Given the description of an element on the screen output the (x, y) to click on. 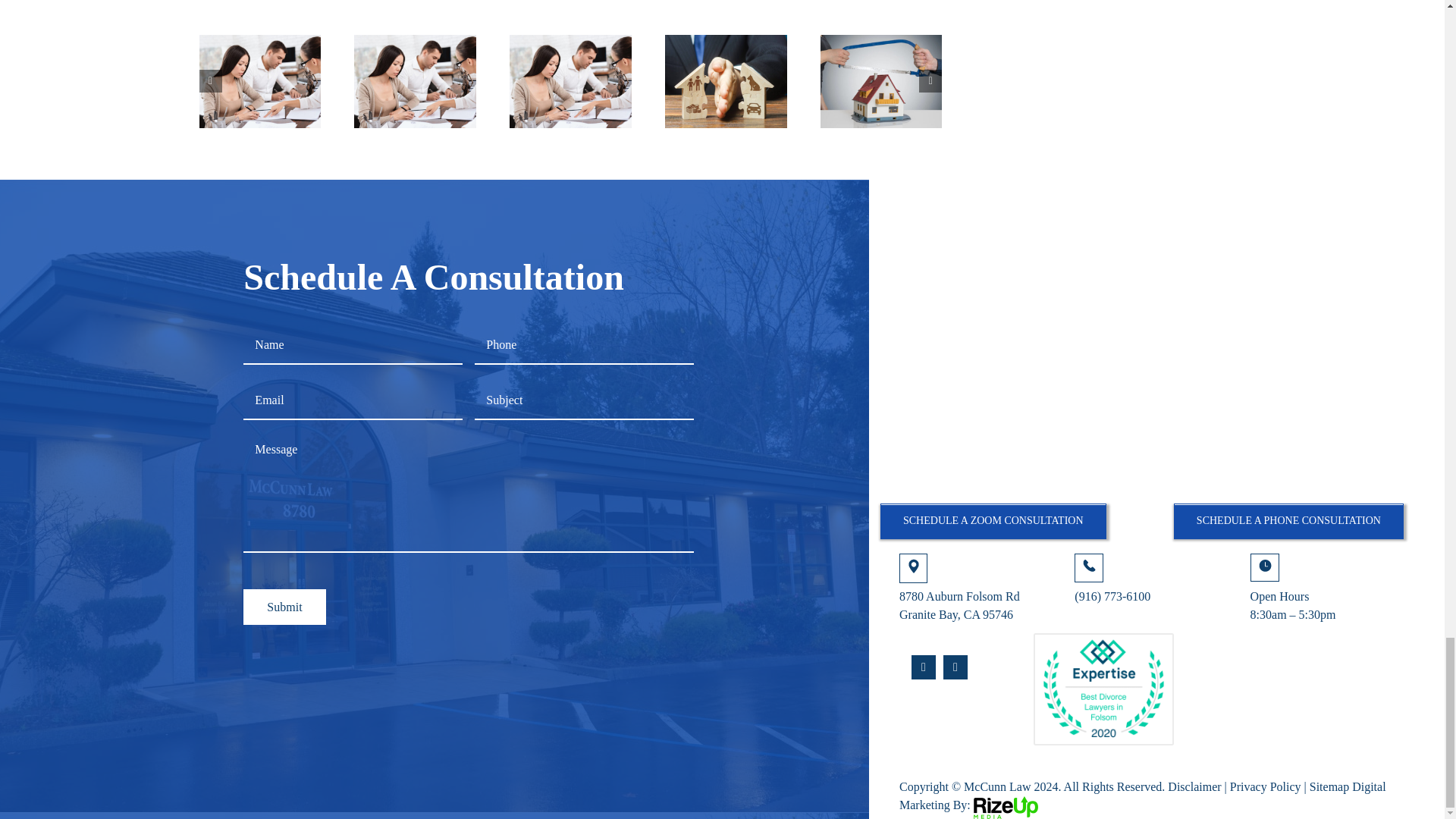
Submit (283, 606)
Facebook (923, 667)
LinkedIn (955, 667)
